Given the description of an element on the screen output the (x, y) to click on. 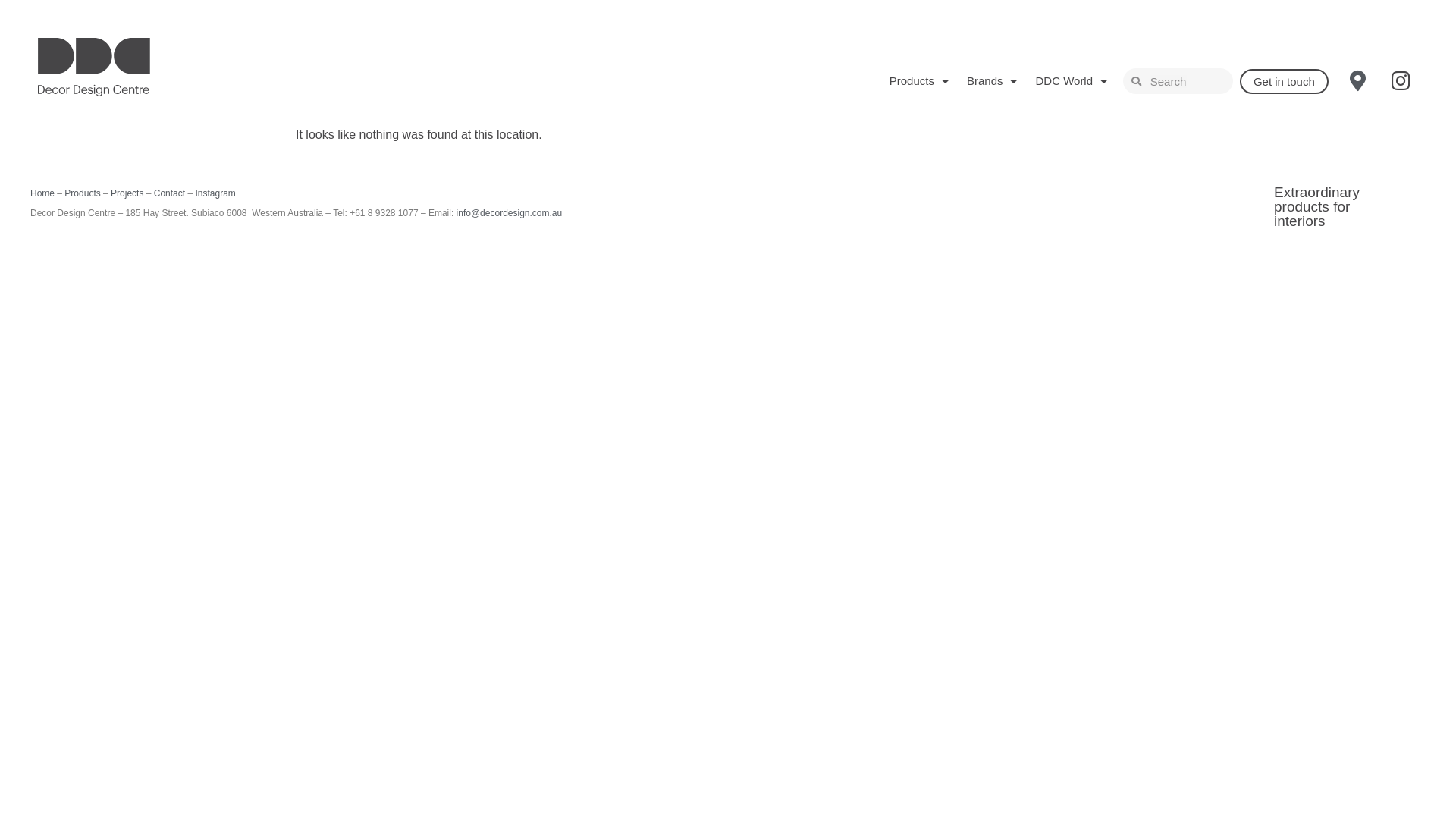
Contact Element type: text (169, 193)
Home Element type: text (42, 193)
Projects Element type: text (126, 193)
Brands Element type: text (991, 80)
Instagram Element type: text (214, 193)
DDC World Element type: text (1071, 80)
Products Element type: text (82, 193)
Products Element type: text (918, 80)
Get in touch Element type: text (1283, 80)
info@decordesign.com.au Element type: text (509, 212)
